Given the description of an element on the screen output the (x, y) to click on. 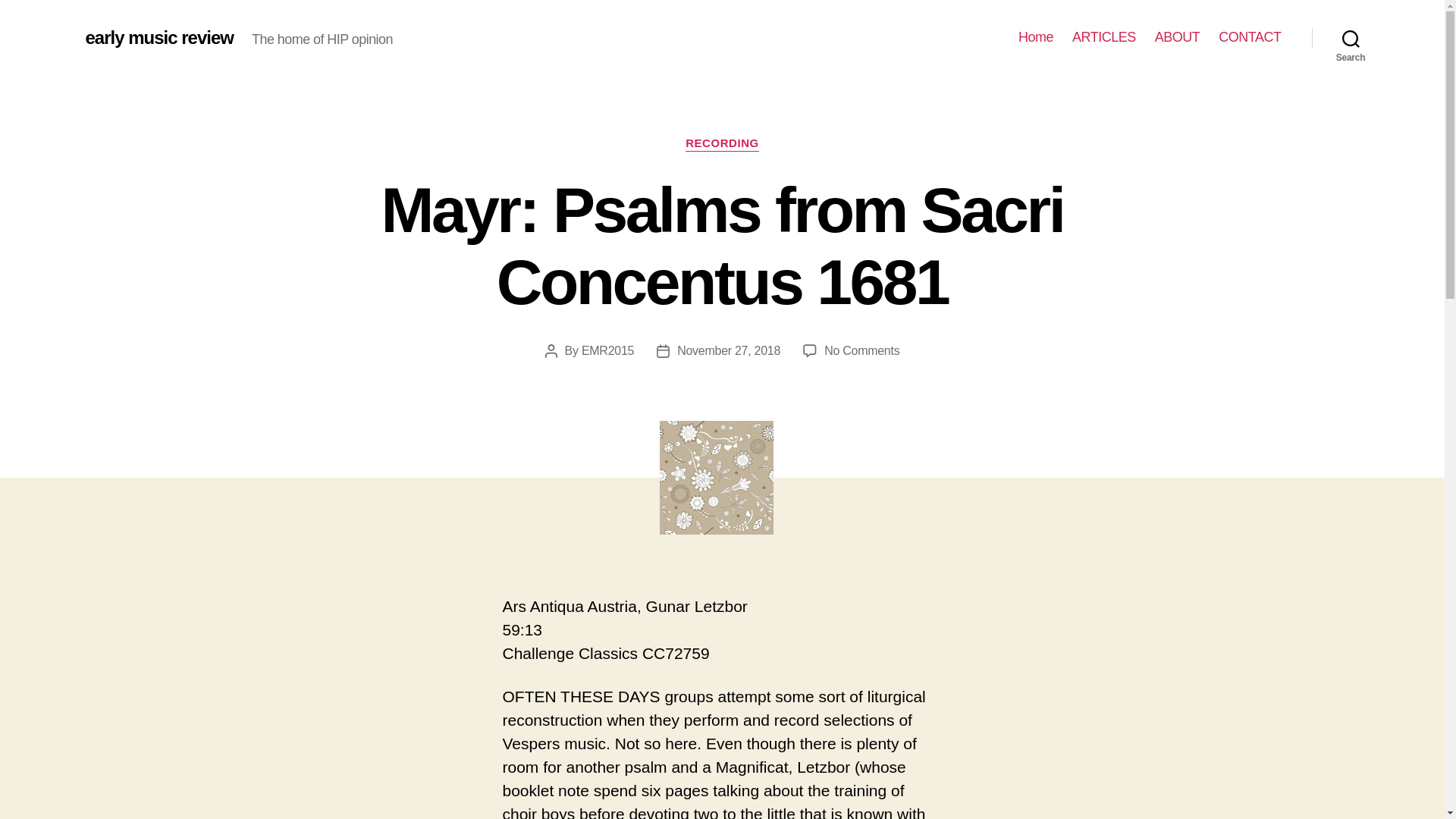
Search (1350, 37)
Home (1034, 37)
ABOUT (1176, 37)
EMR2015 (861, 350)
ARTICLES (606, 350)
RECORDING (1103, 37)
CONTACT (721, 143)
early music review (1249, 37)
November 27, 2018 (158, 37)
